Given the description of an element on the screen output the (x, y) to click on. 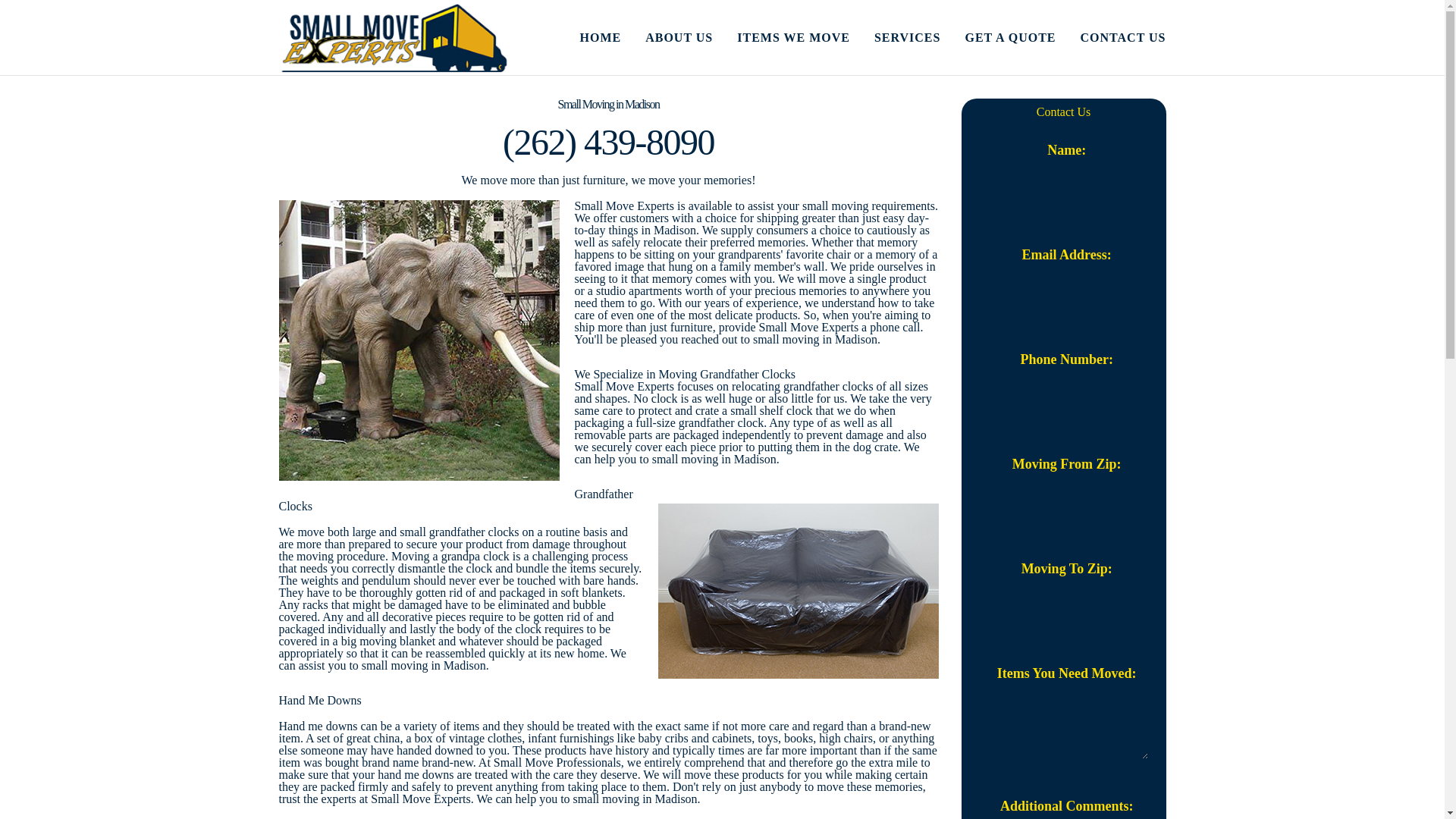
ABOUT US (667, 38)
CONTACT US (1111, 38)
SERVICES (895, 38)
GET A QUOTE (997, 38)
ITEMS WE MOVE (781, 38)
